Given the description of an element on the screen output the (x, y) to click on. 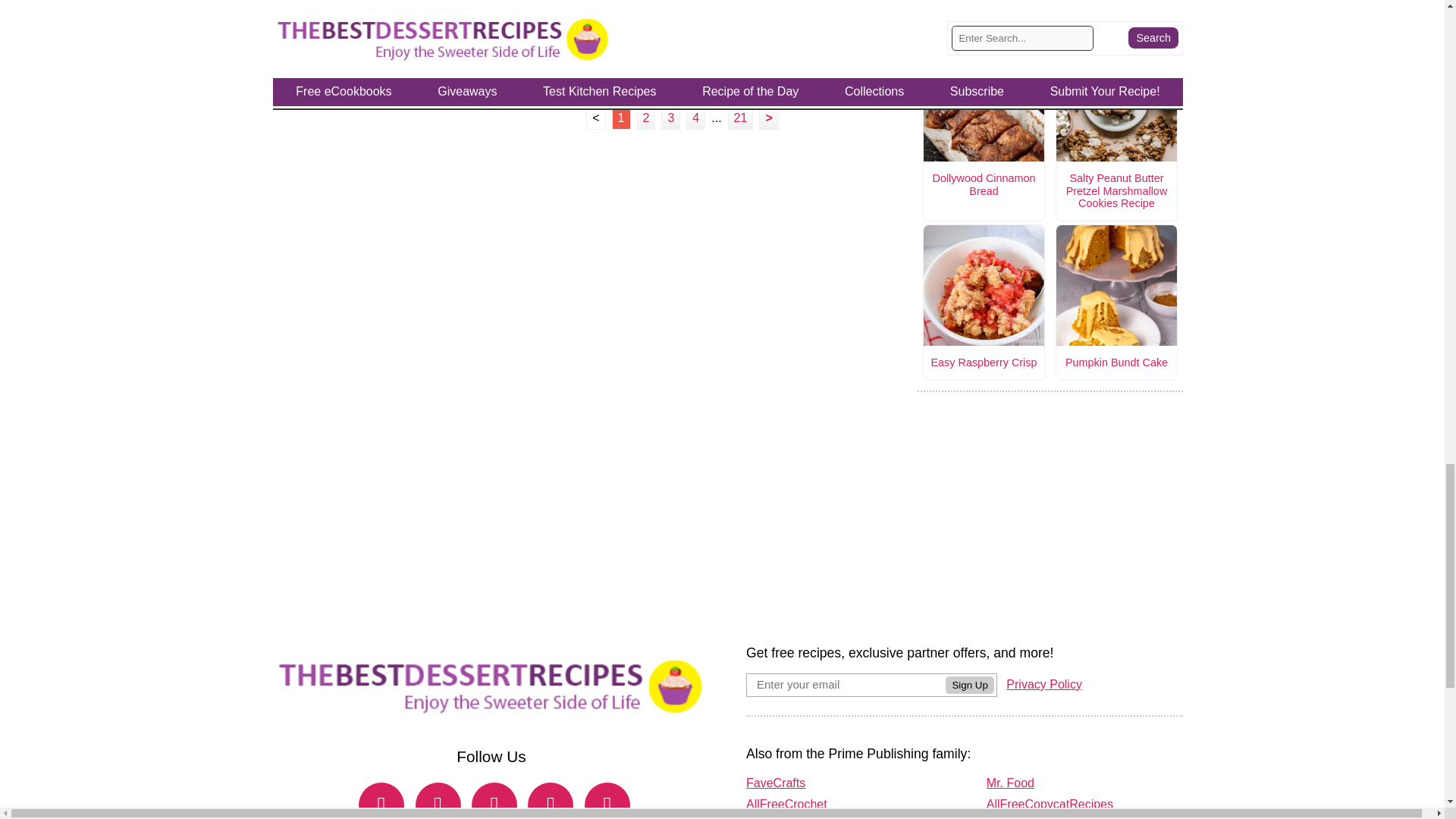
Go to Page 4 (694, 117)
Go to Page 3 (670, 117)
Go to Last Page (741, 117)
Go to Next Page (767, 117)
Go to Page 2 (646, 117)
